Given the description of an element on the screen output the (x, y) to click on. 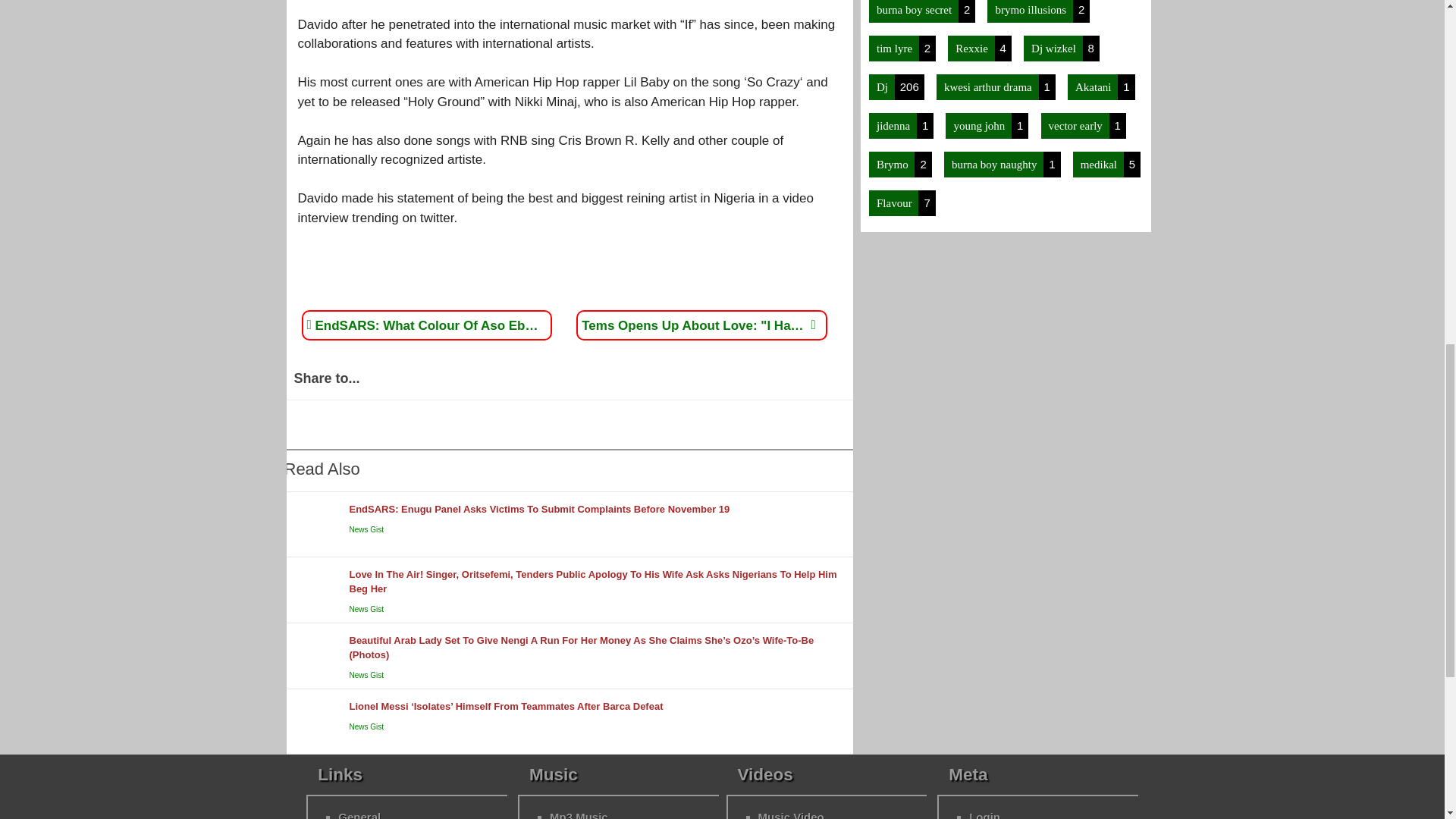
Mp3 Music (579, 814)
Tems Opens Up About Love: "I Haven't Been in Love" (697, 324)
Tems Opens Up About Love: "I Haven (697, 324)
